Given the description of an element on the screen output the (x, y) to click on. 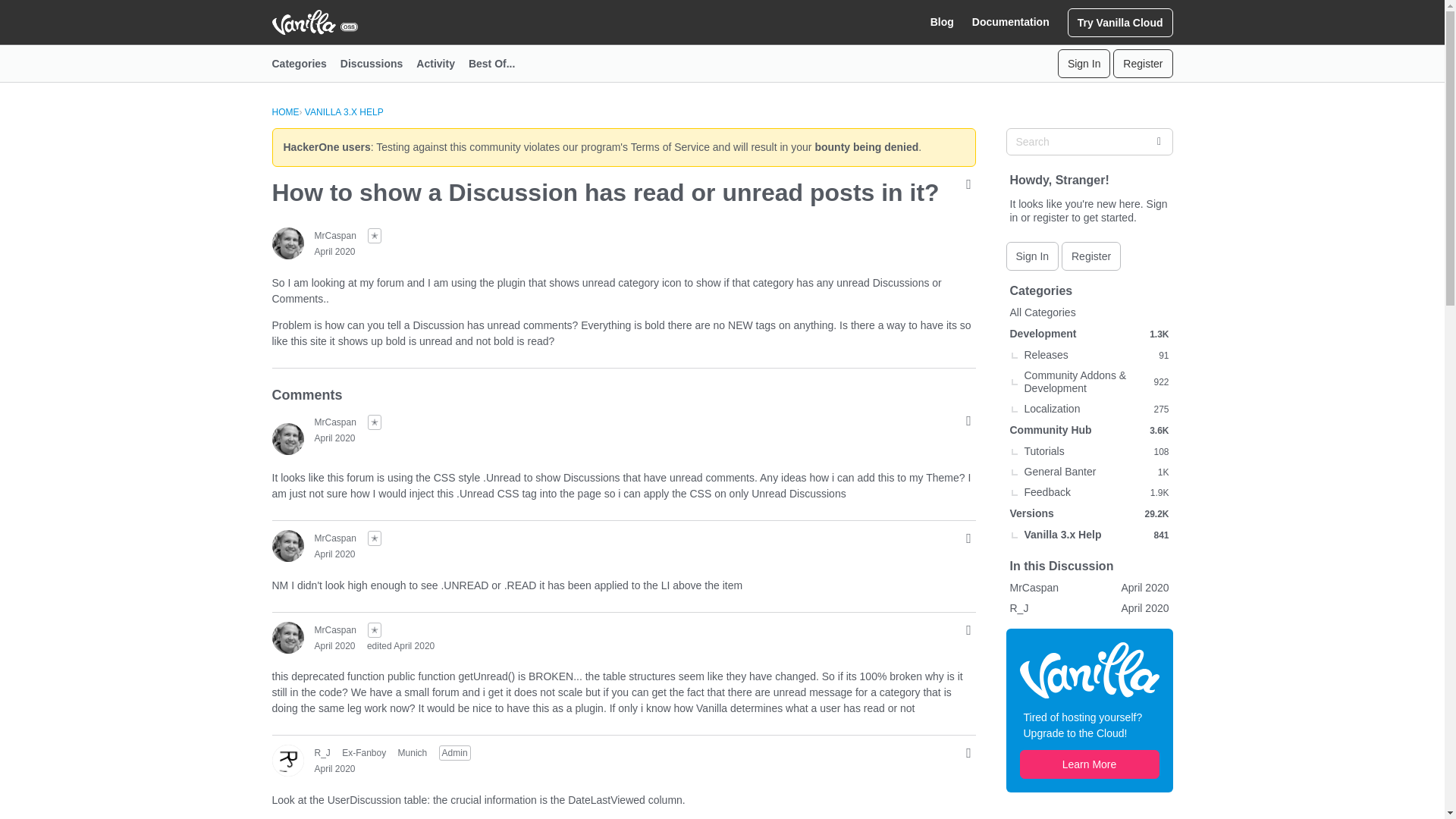
Best Of... (498, 63)
Try Vanilla Cloud (1120, 21)
Documentation (1011, 22)
MrCaspan (286, 545)
April 2020 (334, 437)
MrCaspan (334, 630)
Activity (442, 63)
Discussions (378, 63)
April 1, 2020 8:04PM (334, 437)
Blog (942, 22)
Level 1 (374, 538)
MrCaspan (286, 439)
Level 1 (374, 421)
April 2020 (334, 251)
April 1, 2020 8:00PM (334, 251)
